Given the description of an element on the screen output the (x, y) to click on. 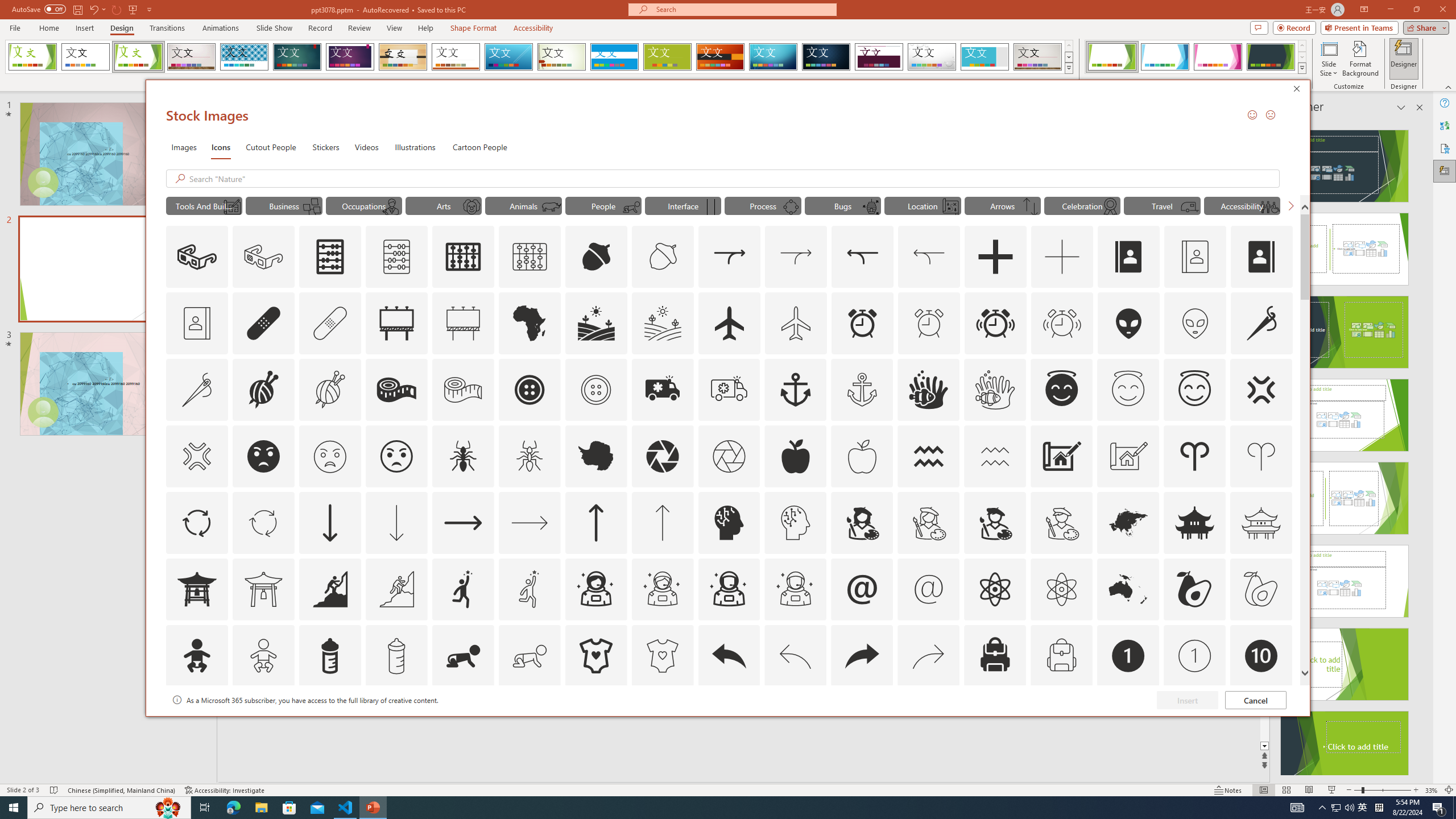
AutomationID: Icons_AlterationsTailoring1 (263, 389)
AutomationID: Icons_PostitNotes1_M (311, 206)
AutomationID: Icons_Anchor (795, 389)
AutomationID: Icons_Aperture_M (729, 455)
Cartoon People (479, 146)
